Given the description of an element on the screen output the (x, y) to click on. 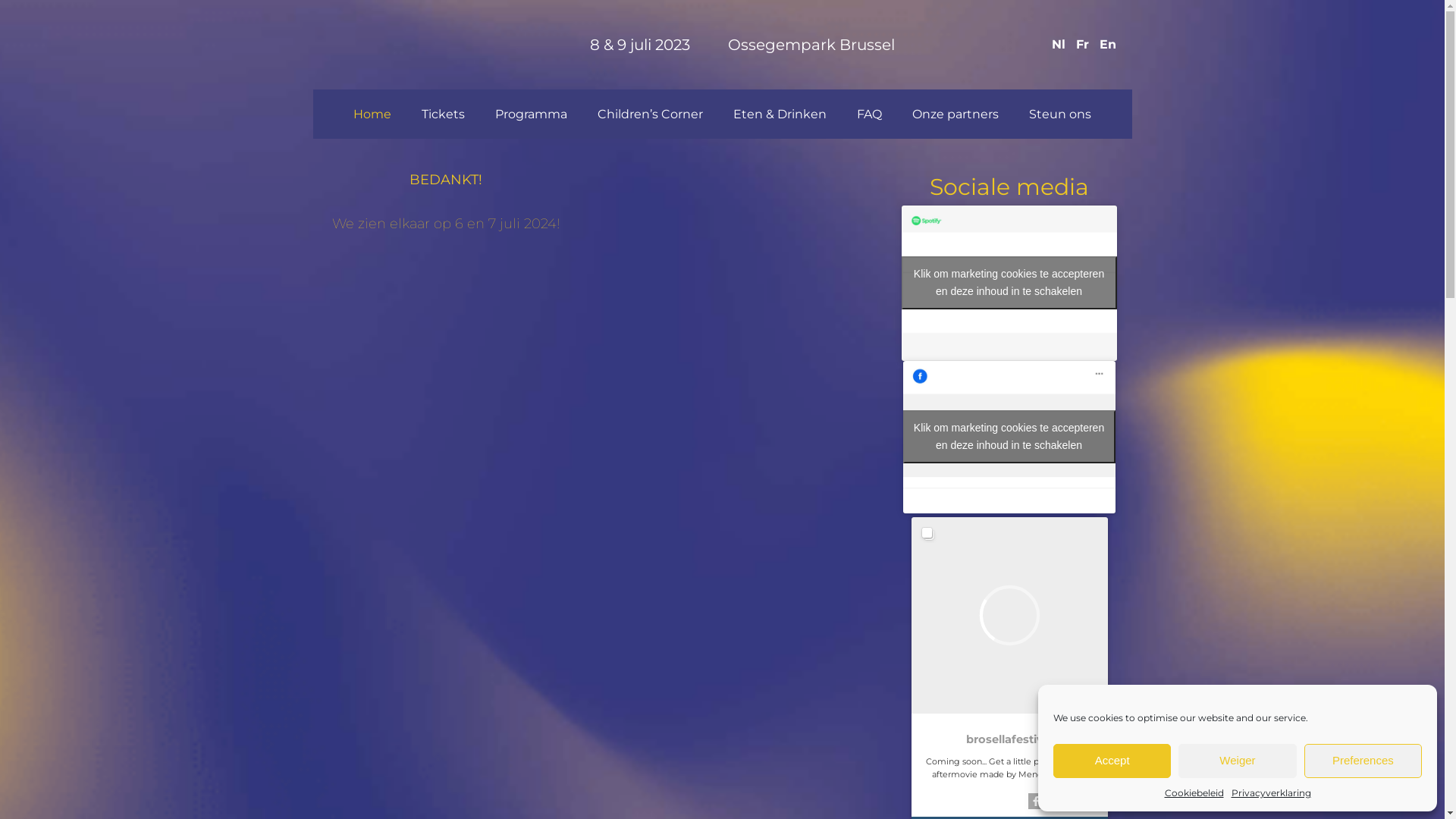
Accept Element type: text (1111, 760)
Cookiebeleid Element type: text (1193, 792)
Weiger Element type: text (1236, 760)
Steun ons Element type: text (1059, 114)
Onze partners Element type: text (955, 114)
FAQ Element type: text (869, 114)
Preferences Element type: text (1362, 760)
Fr Element type: text (1082, 44)
Eten & Drinken Element type: text (779, 114)
Tickets Element type: text (443, 114)
Programma Element type: text (531, 114)
Home Element type: text (372, 114)
Privacyverklaring Element type: text (1271, 792)
brosellafestival Element type: text (1009, 739)
Nl Element type: text (1058, 44)
En Element type: text (1107, 44)
